Given the description of an element on the screen output the (x, y) to click on. 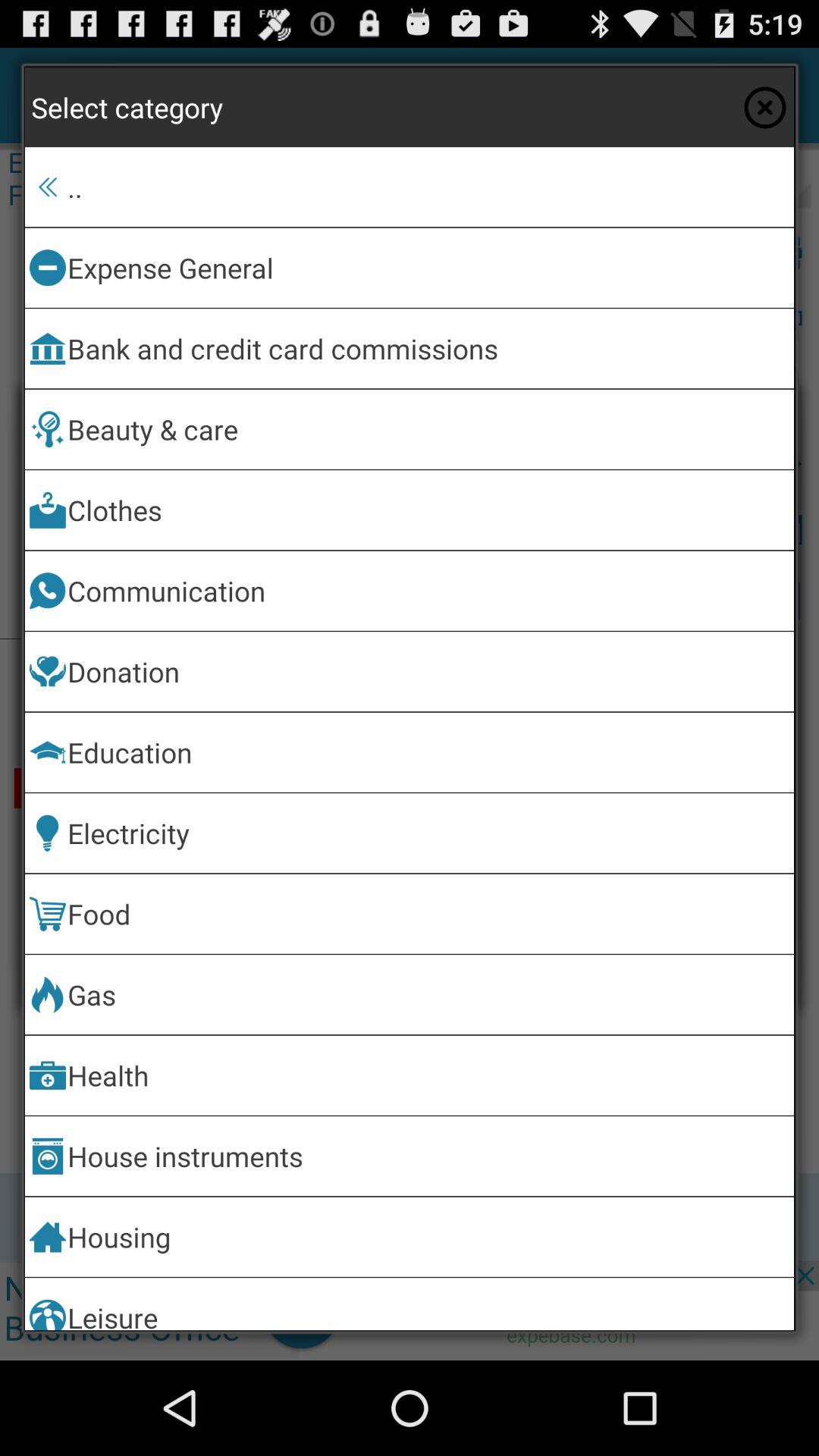
scroll until beauty & care item (427, 429)
